Given the description of an element on the screen output the (x, y) to click on. 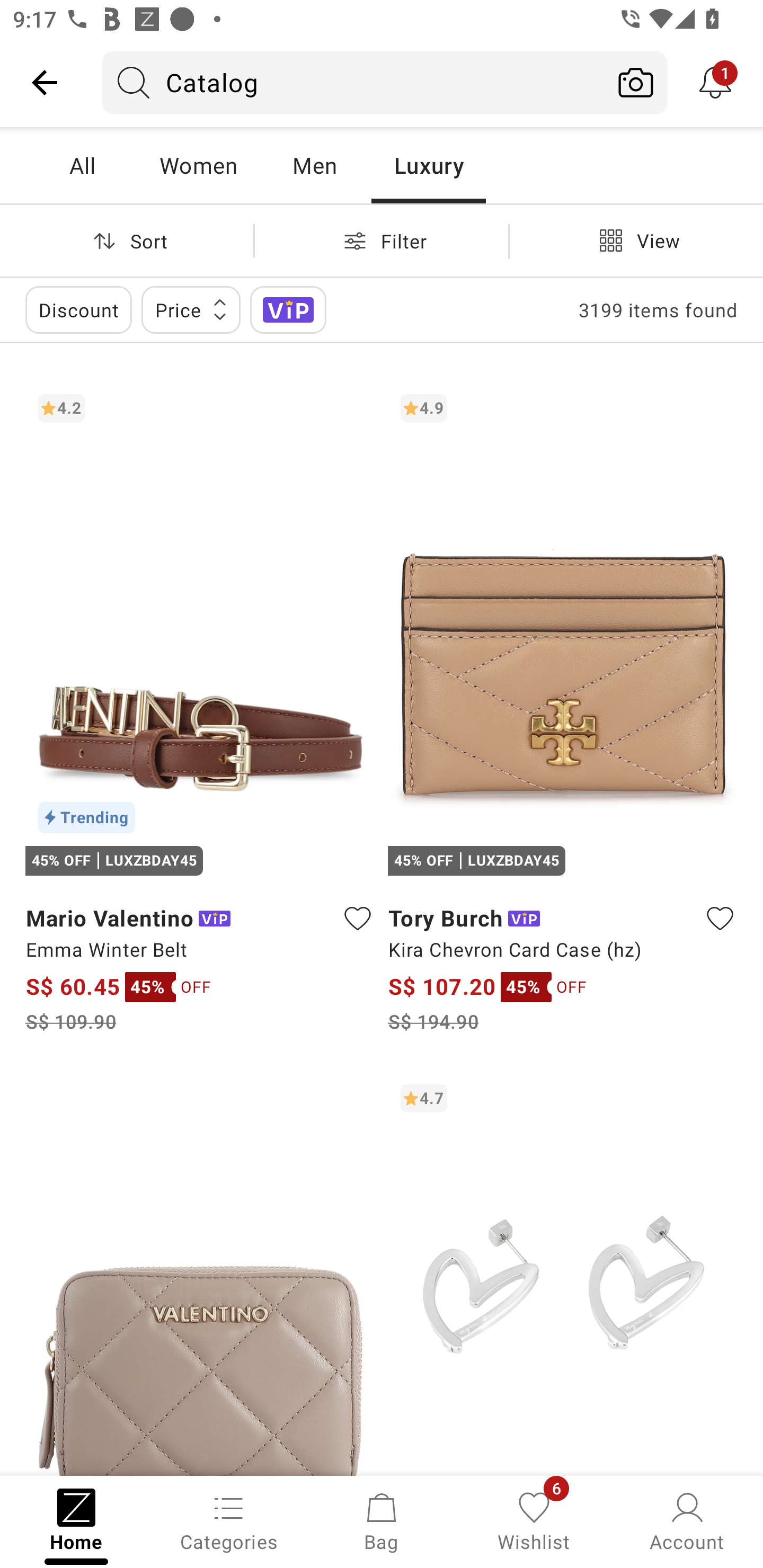
Navigate up (44, 82)
Catalog (352, 82)
All (82, 165)
Women (198, 165)
Men (314, 165)
Sort (126, 240)
Filter (381, 240)
View (636, 240)
Discount (78, 309)
Price (190, 309)
4.7 (562, 1272)
Categories (228, 1519)
Bag (381, 1519)
Wishlist, 6 new notifications Wishlist (533, 1519)
Account (686, 1519)
